Given the description of an element on the screen output the (x, y) to click on. 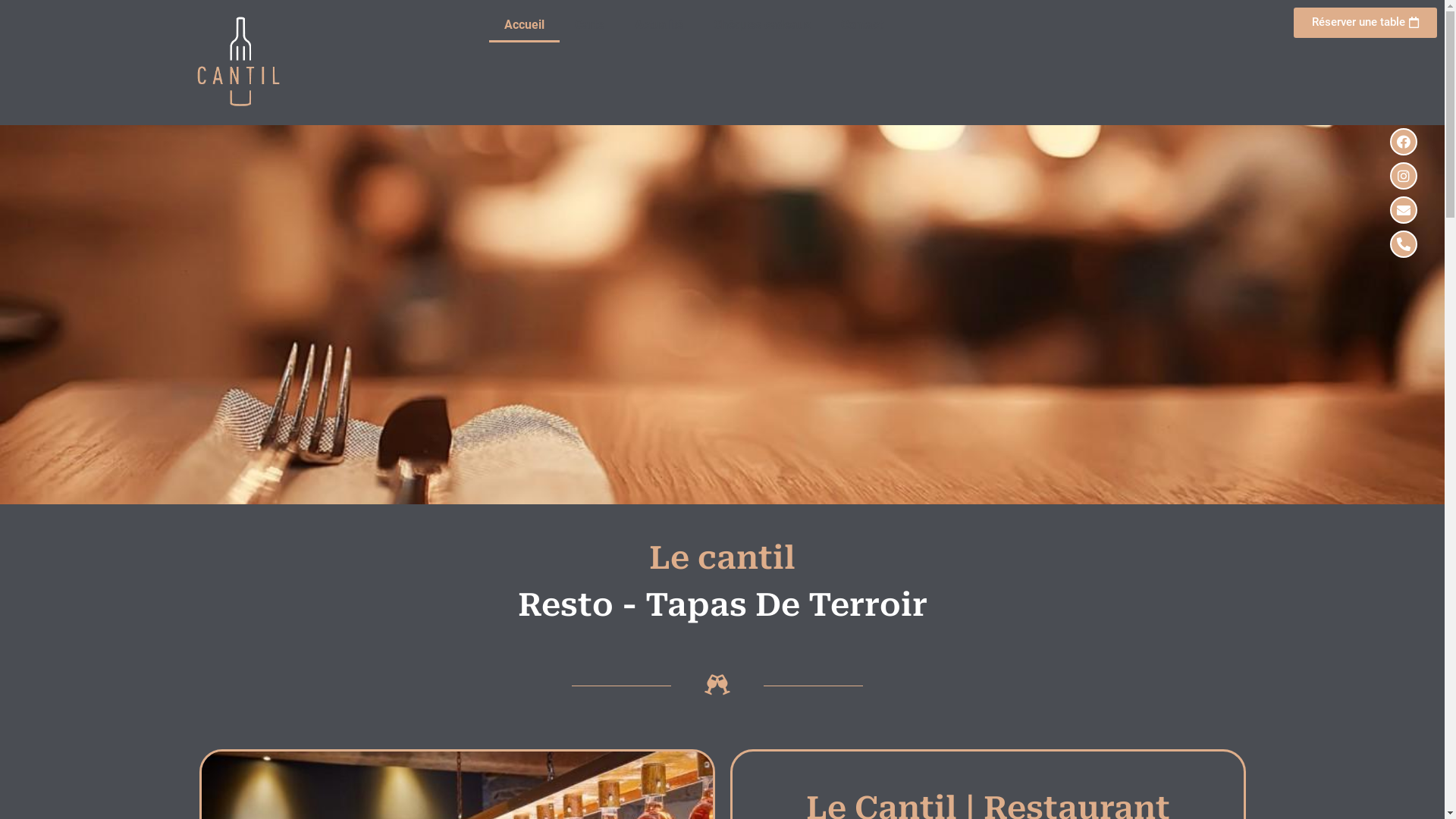
Contact Element type: text (861, 24)
Carte Element type: text (589, 24)
Accueil Element type: text (524, 24)
